Given the description of an element on the screen output the (x, y) to click on. 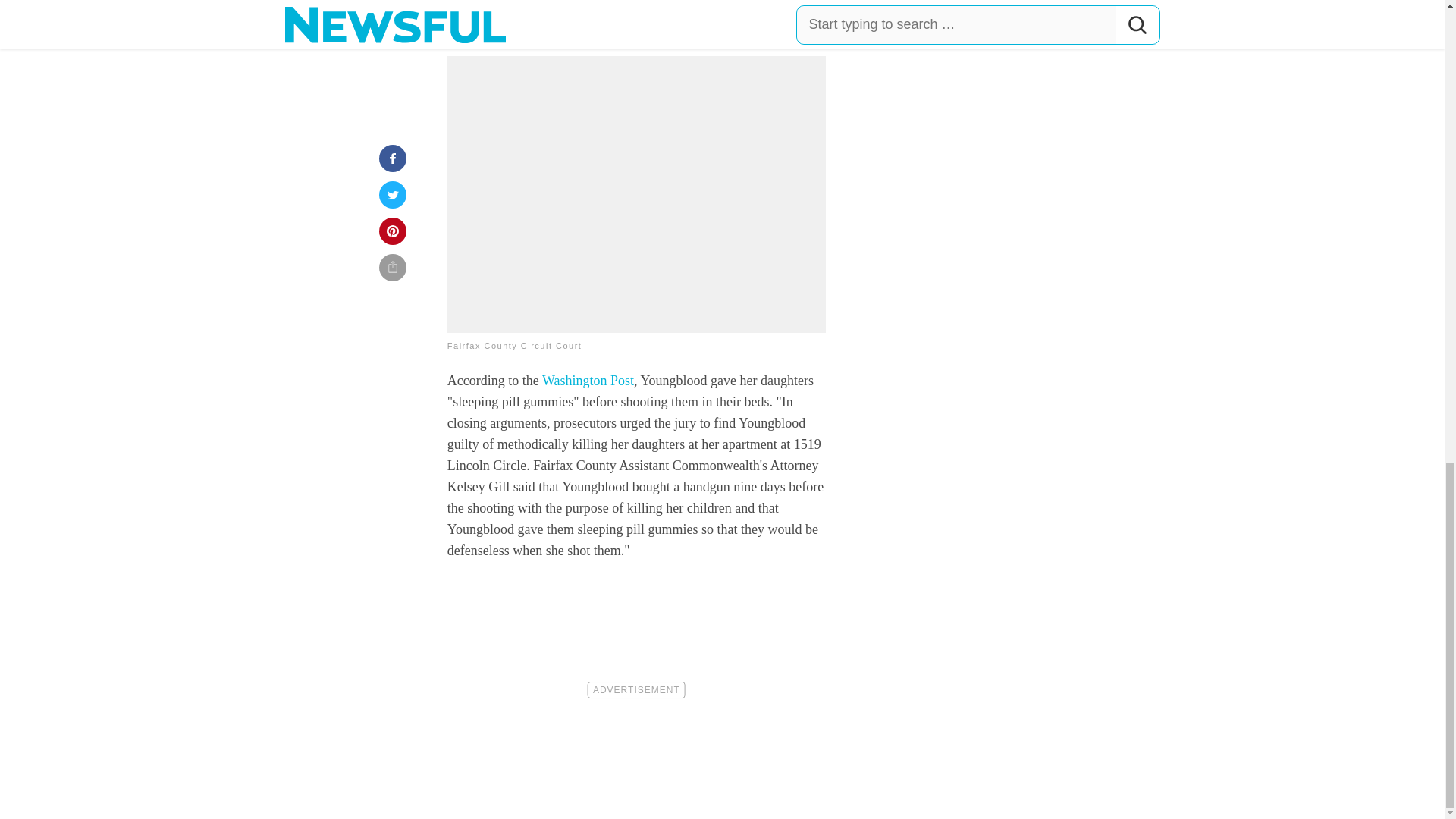
Washington Post (587, 380)
